Given the description of an element on the screen output the (x, y) to click on. 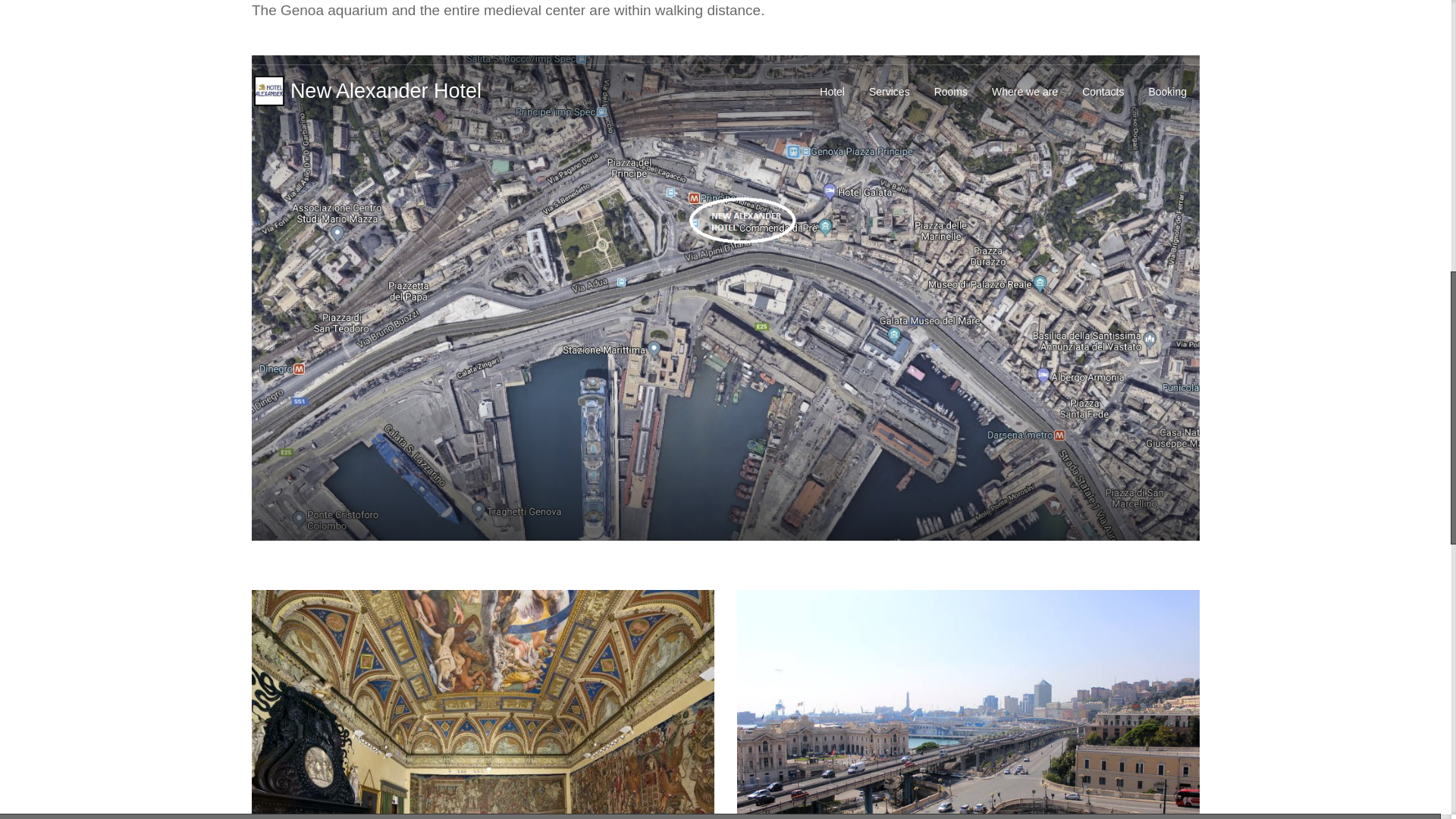
la stazione marittima (967, 704)
Palazzo del Principe (482, 704)
